Given the description of an element on the screen output the (x, y) to click on. 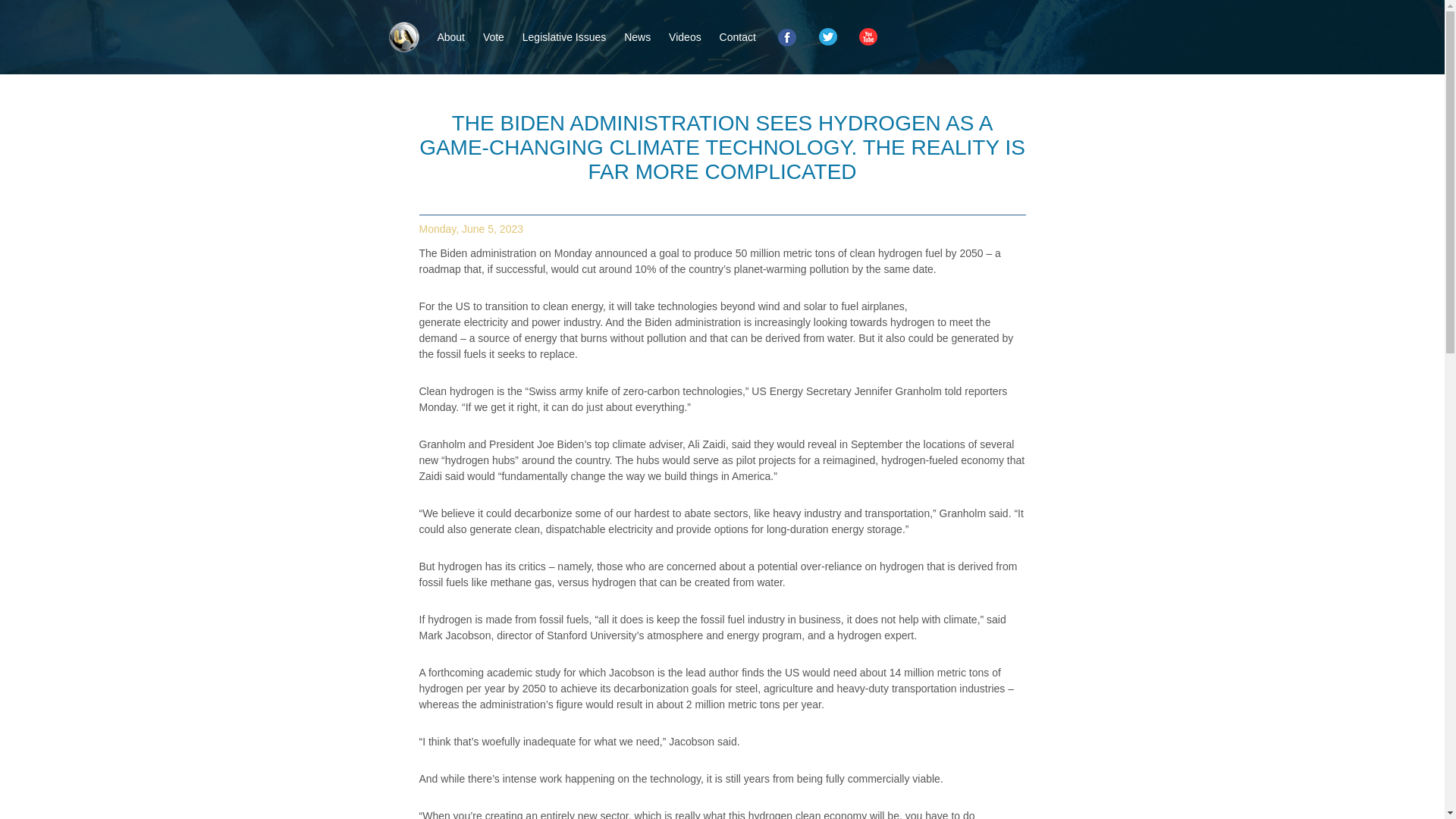
Legislative Issues (564, 37)
News (637, 37)
Vote (493, 37)
yt (866, 35)
Contact (737, 37)
Videos (684, 37)
Home (403, 37)
Primary election dates and voter registration information. (493, 37)
fb (785, 35)
About (450, 37)
tw (826, 35)
